Given the description of an element on the screen output the (x, y) to click on. 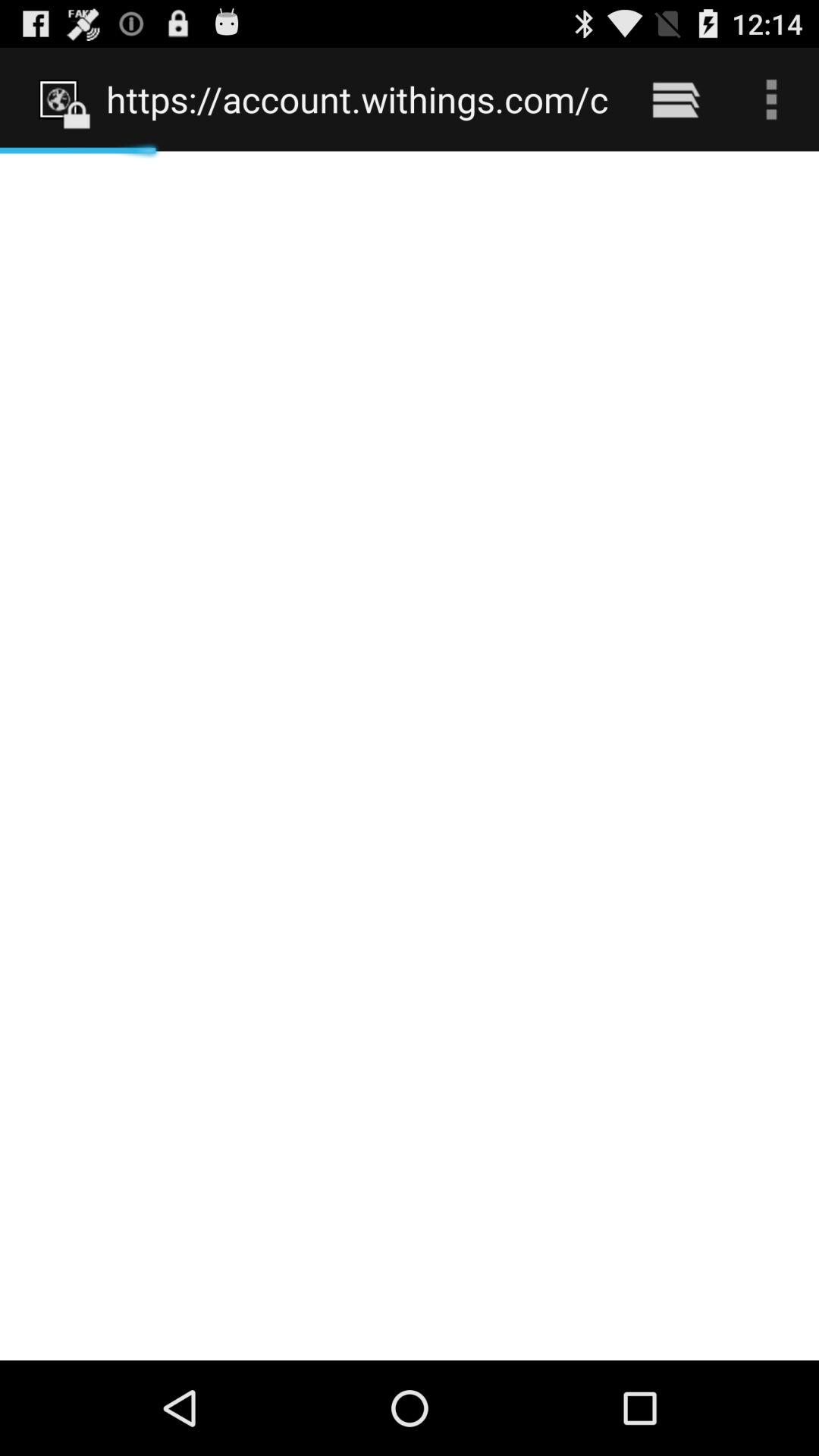
launch icon at the center (409, 755)
